Given the description of an element on the screen output the (x, y) to click on. 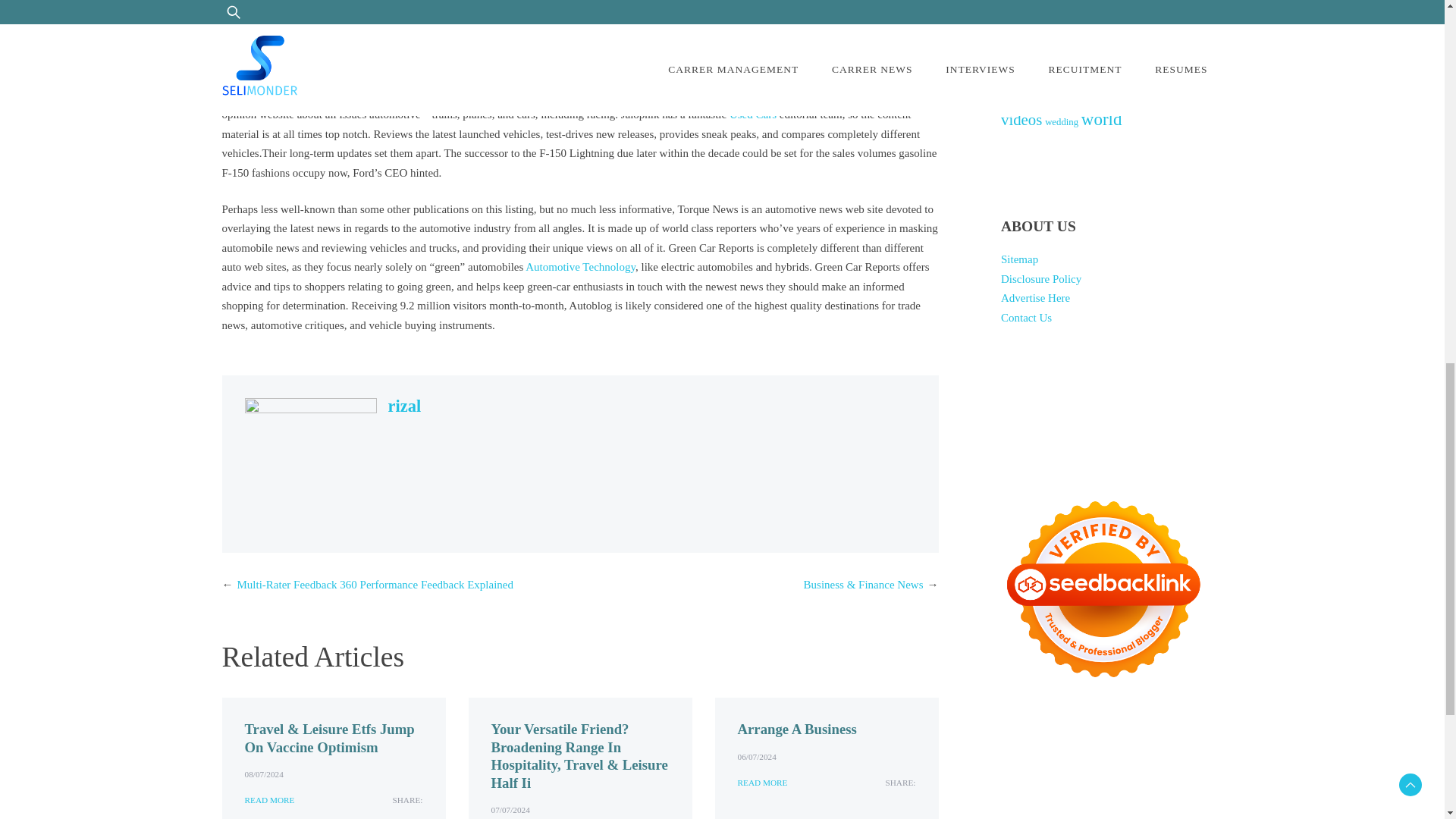
Seedbacklink (1103, 588)
READ MORE (761, 782)
Used Cars (752, 114)
Arrange A Business (796, 729)
Automotive Technology (579, 266)
READ MORE (269, 800)
rizal (405, 405)
Multi-Rater Feedback 360 Performance Feedback Explained (373, 584)
